Given the description of an element on the screen output the (x, y) to click on. 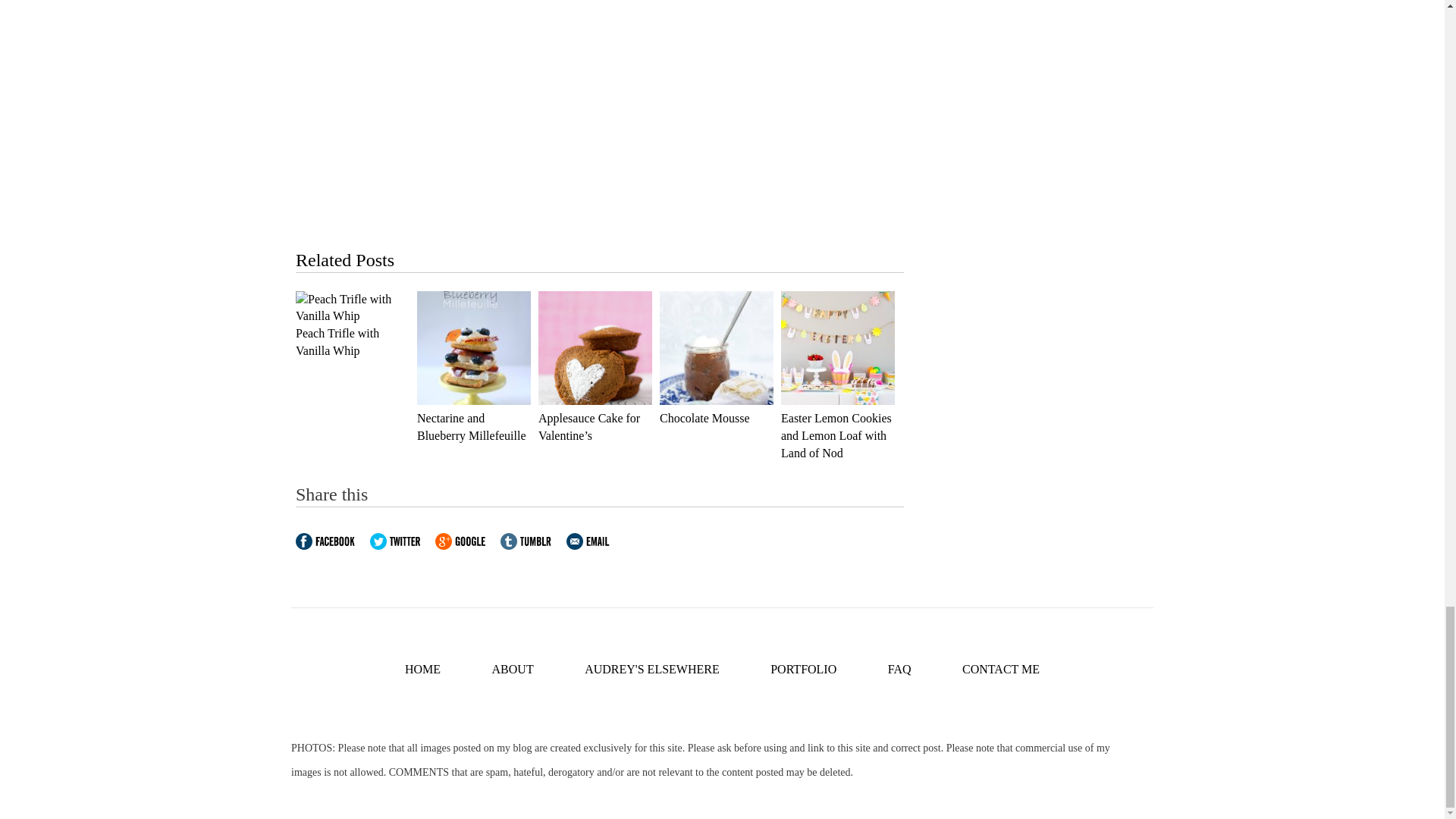
Easter Lemon Cookies and Lemon Loaf with Land of Nod (835, 435)
Chocolate Mousse (704, 418)
Peach Trifle with Vanilla Whip (336, 341)
Nectarine and Blueberry Millefeuille (470, 426)
